Given the description of an element on the screen output the (x, y) to click on. 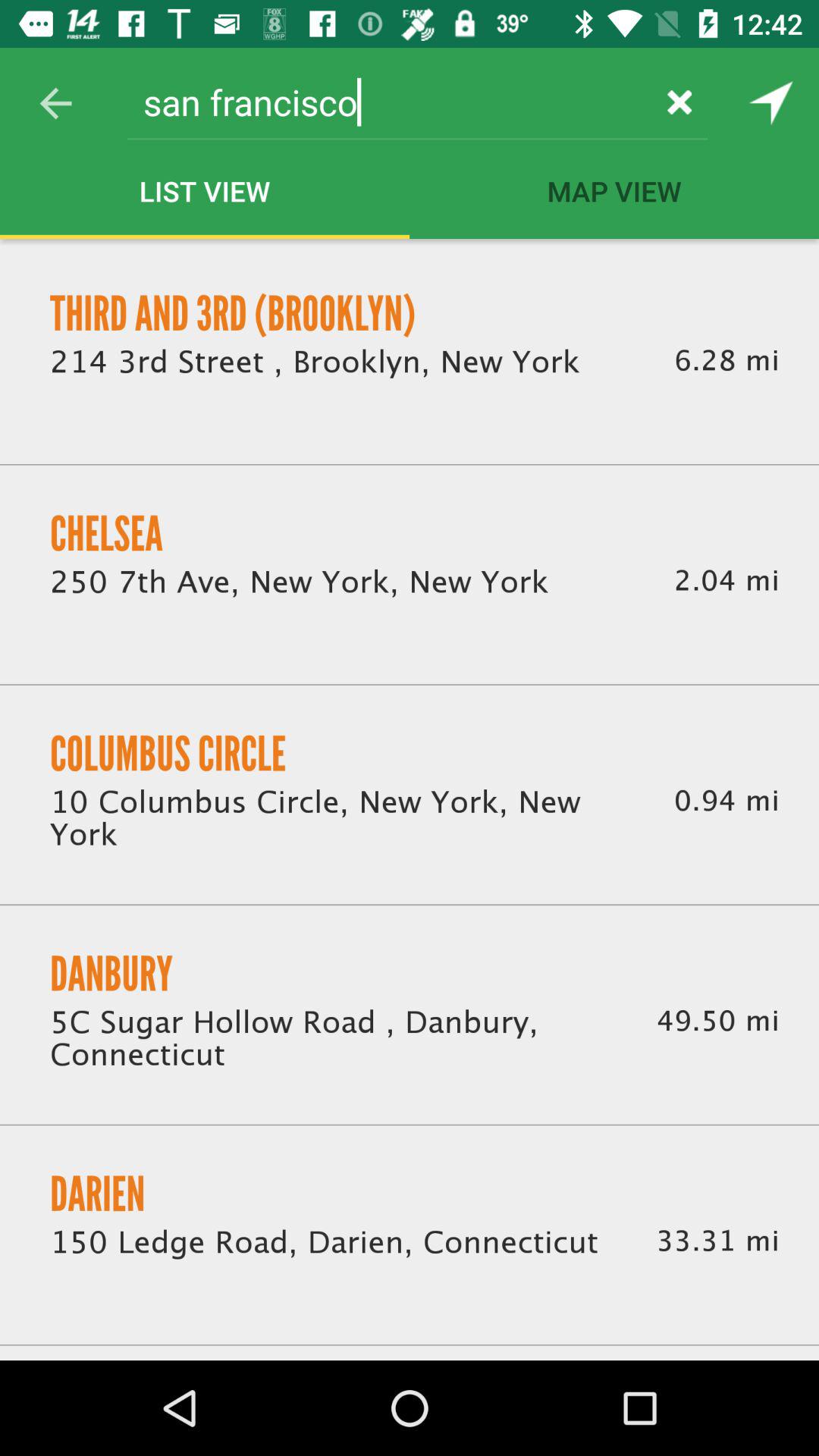
scroll until 5c sugar hollow (334, 1040)
